Given the description of an element on the screen output the (x, y) to click on. 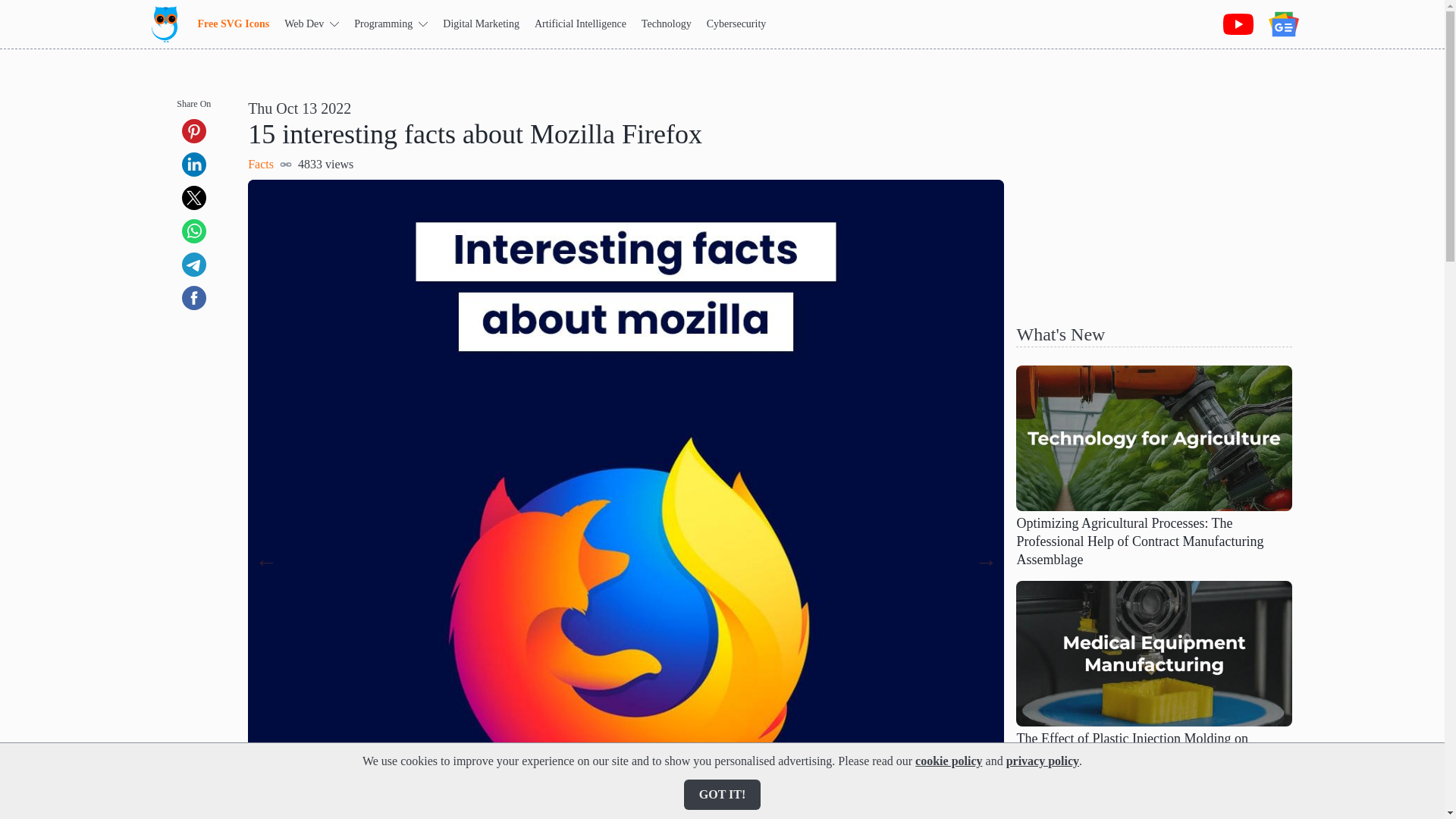
Cybersecurity (736, 23)
Web Dev (311, 23)
Articles on Digital Marketing (480, 23)
Geekboots (163, 23)
Free SVG Icons (232, 23)
Next (985, 559)
Programming (390, 23)
Articles on Artificial Intelligence (580, 23)
Digital Marketing (480, 23)
Previous (265, 559)
Web Icons and SVG icons on WebGraphiz Store (232, 23)
Technology (666, 23)
Artificial Intelligence (580, 23)
Programming (390, 23)
Facts (260, 164)
